Given the description of an element on the screen output the (x, y) to click on. 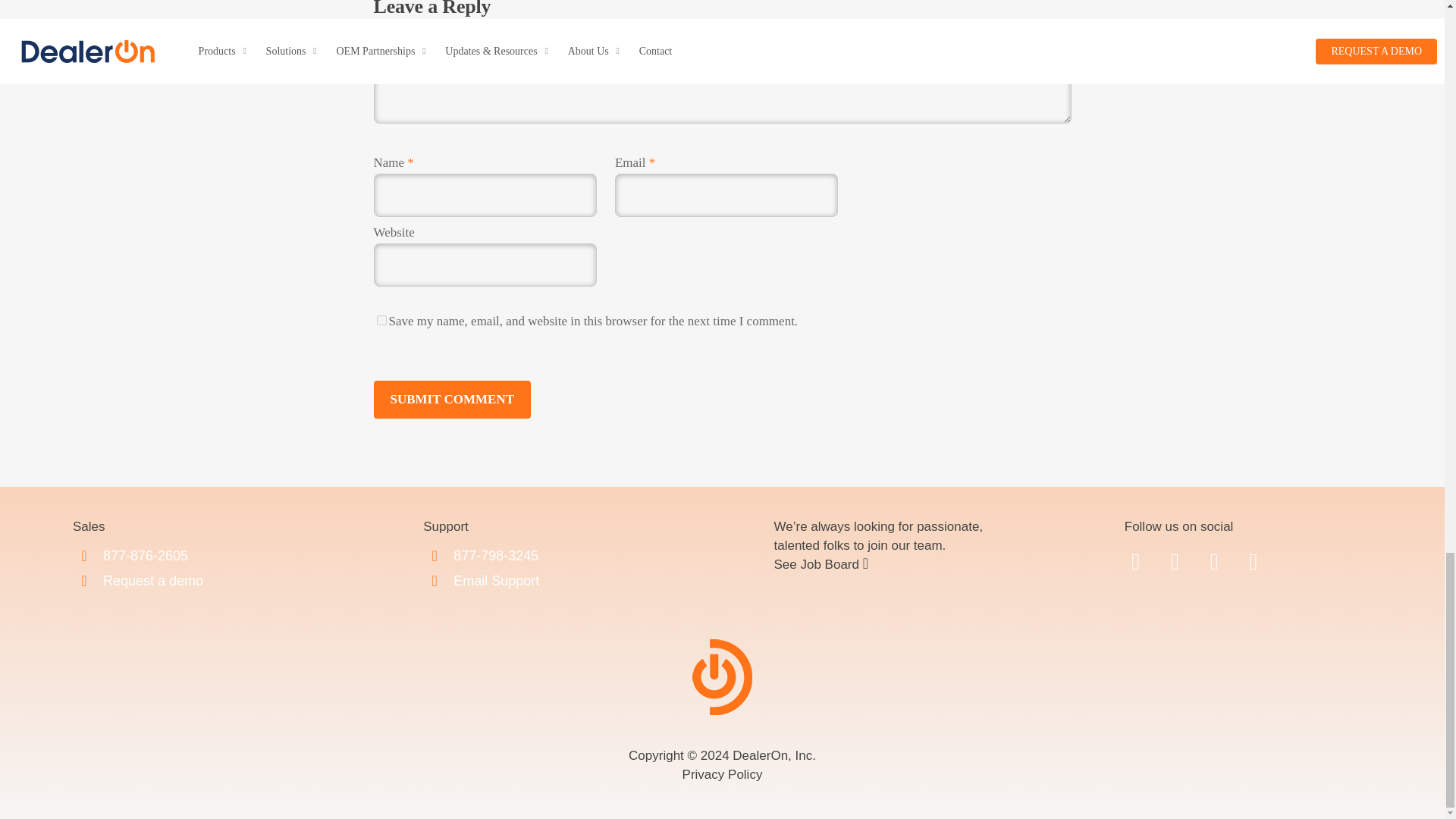
Submit Comment (451, 399)
yes (380, 320)
